Given the description of an element on the screen output the (x, y) to click on. 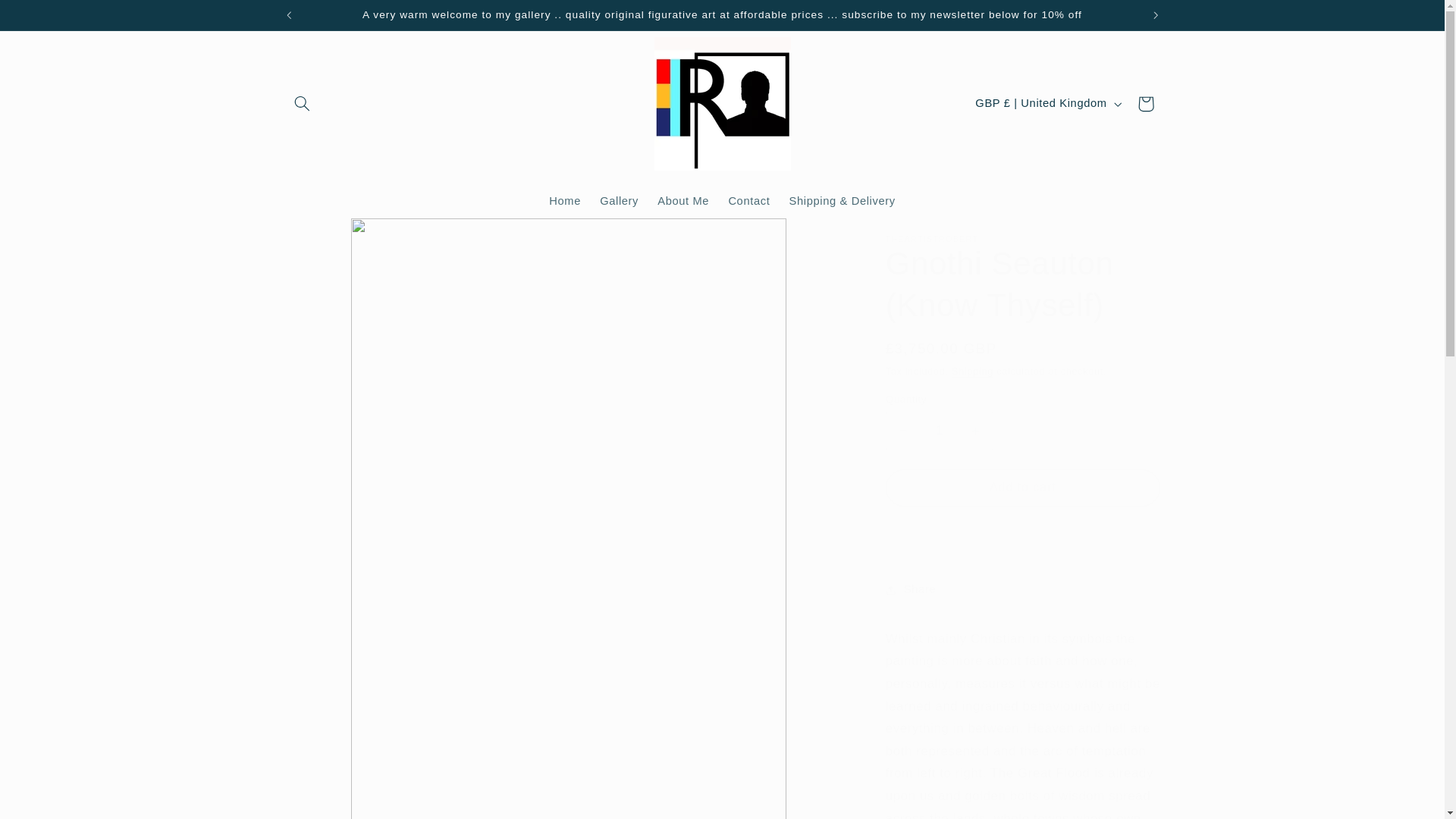
Contact (748, 201)
Skip to content (48, 18)
1 (939, 430)
Gallery (619, 201)
Cart (1145, 103)
Home (565, 201)
Skip to product information (331, 235)
Shipping (972, 371)
About Me (683, 201)
